Given the description of an element on the screen output the (x, y) to click on. 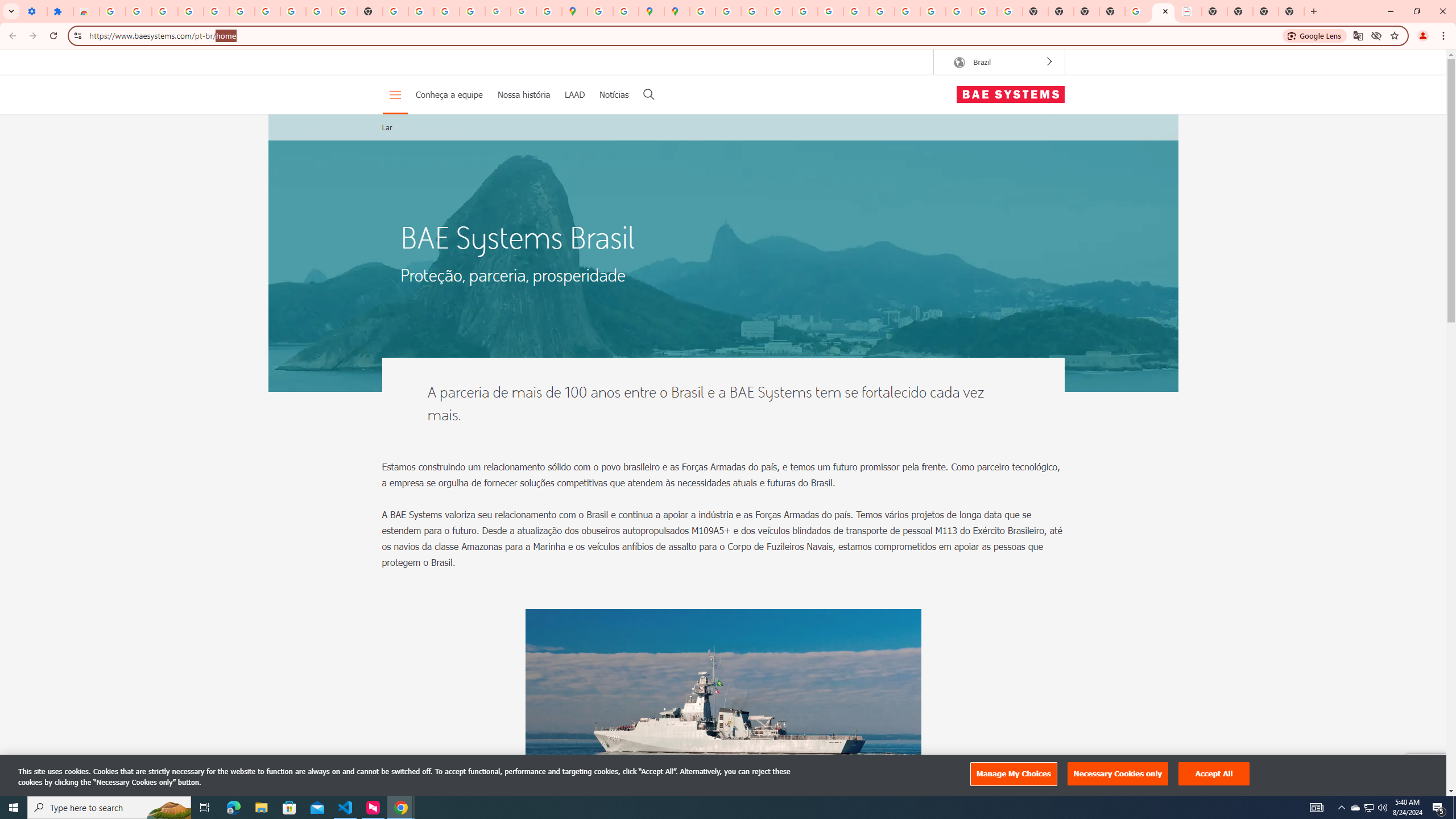
New Tab (1111, 11)
 International Region Icon (959, 62)
Reviews: Helix Fruit Jump Arcade Game (86, 11)
Search with Google Lens (1314, 35)
YouTube (318, 11)
Manage My Choices (1013, 774)
A view over Rio de Janeiro (722, 252)
Terms (1435, 783)
Privacy (1417, 783)
Safety in Our Products - Google Safety Center (625, 11)
Settings - On startup (34, 11)
